Given the description of an element on the screen output the (x, y) to click on. 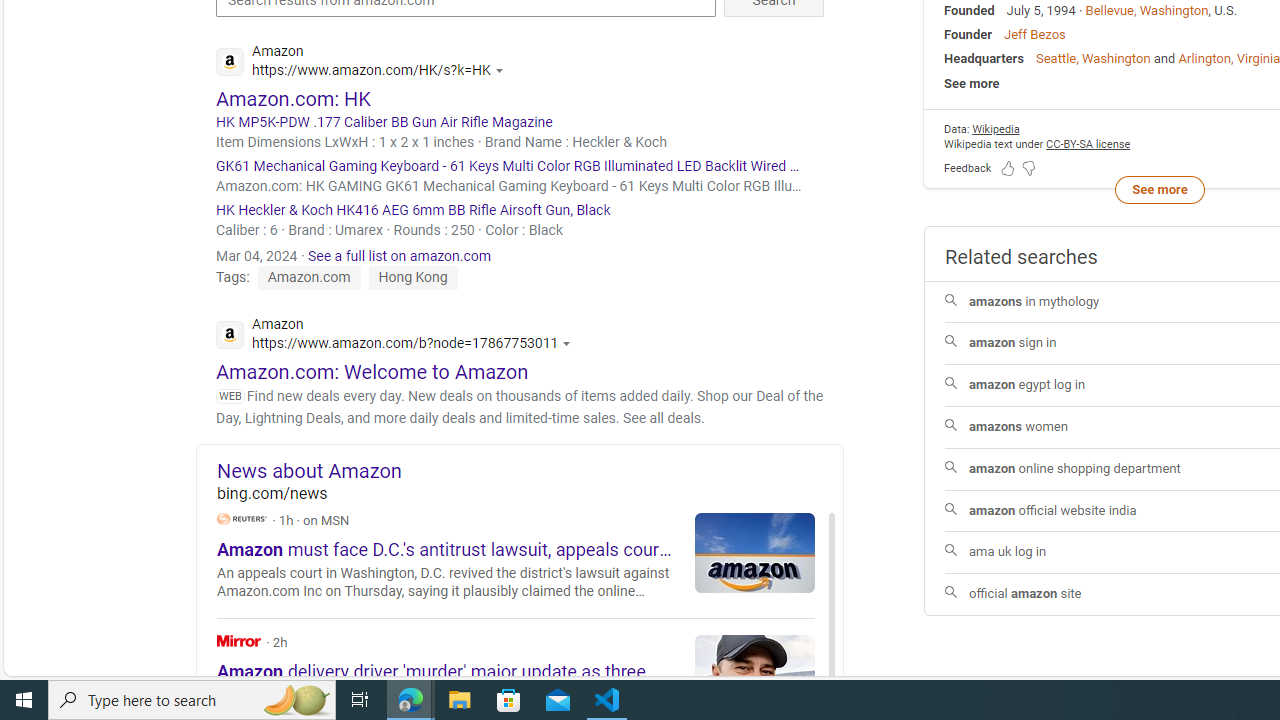
Bellevue, Washington (1147, 10)
HK MP5K-PDW .177 Caliber BB Gun Air Rifle Magazine (520, 122)
Amazon.com: Welcome to Amazon (372, 371)
Feedback Dislike (1028, 167)
See a full list on amazon.com (399, 255)
Jeff Bezos (1034, 34)
bing.com/news (530, 492)
Feedback Like (1007, 167)
News about Amazon (530, 470)
See more (1159, 188)
Global web icon (229, 334)
Actions for this site (570, 343)
Data attribution Wikipedia (995, 129)
